Given the description of an element on the screen output the (x, y) to click on. 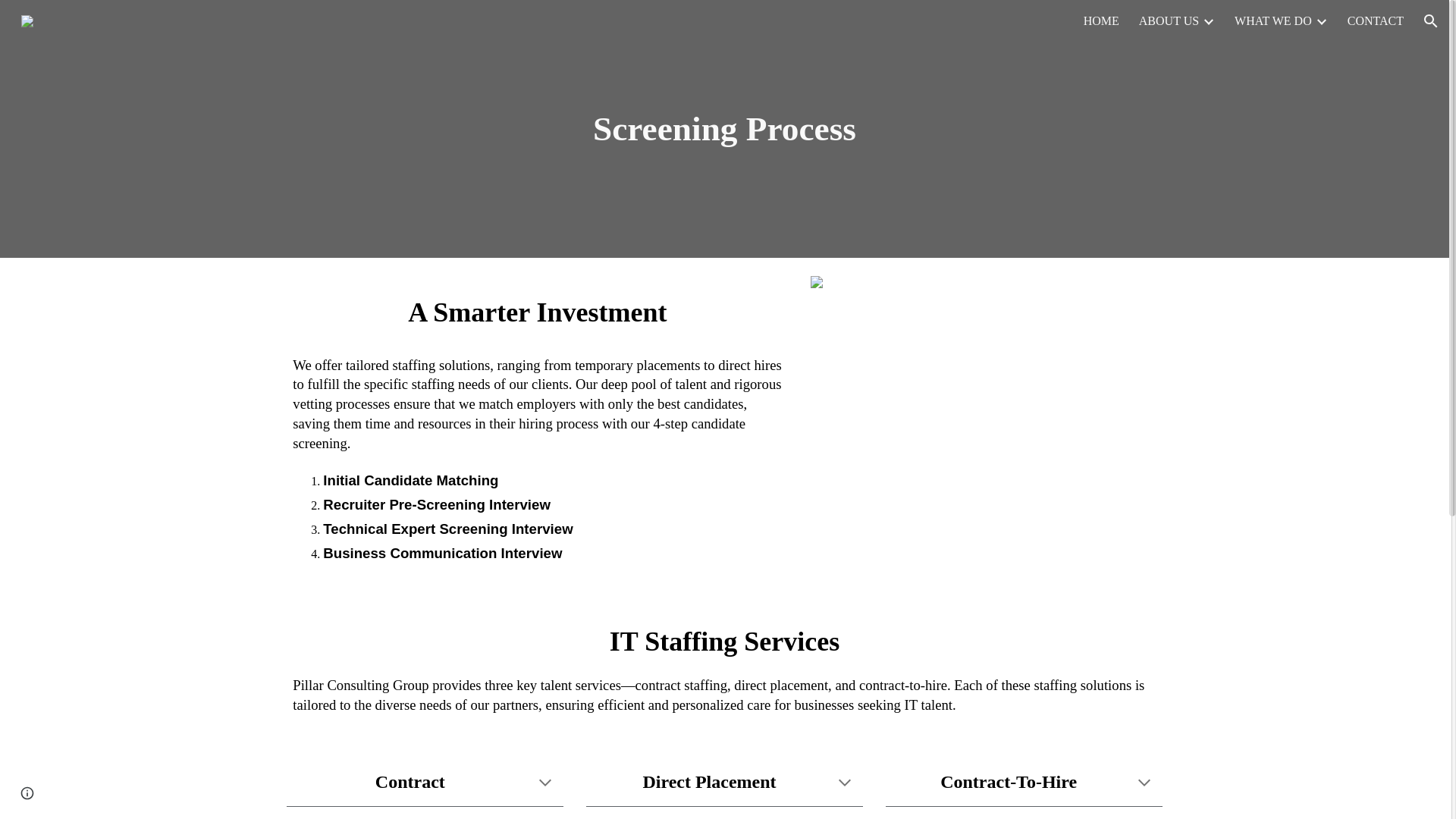
CONTACT (1375, 20)
ABOUT US (1168, 20)
WHAT WE DO (1272, 20)
HOME (1101, 20)
